Given the description of an element on the screen output the (x, y) to click on. 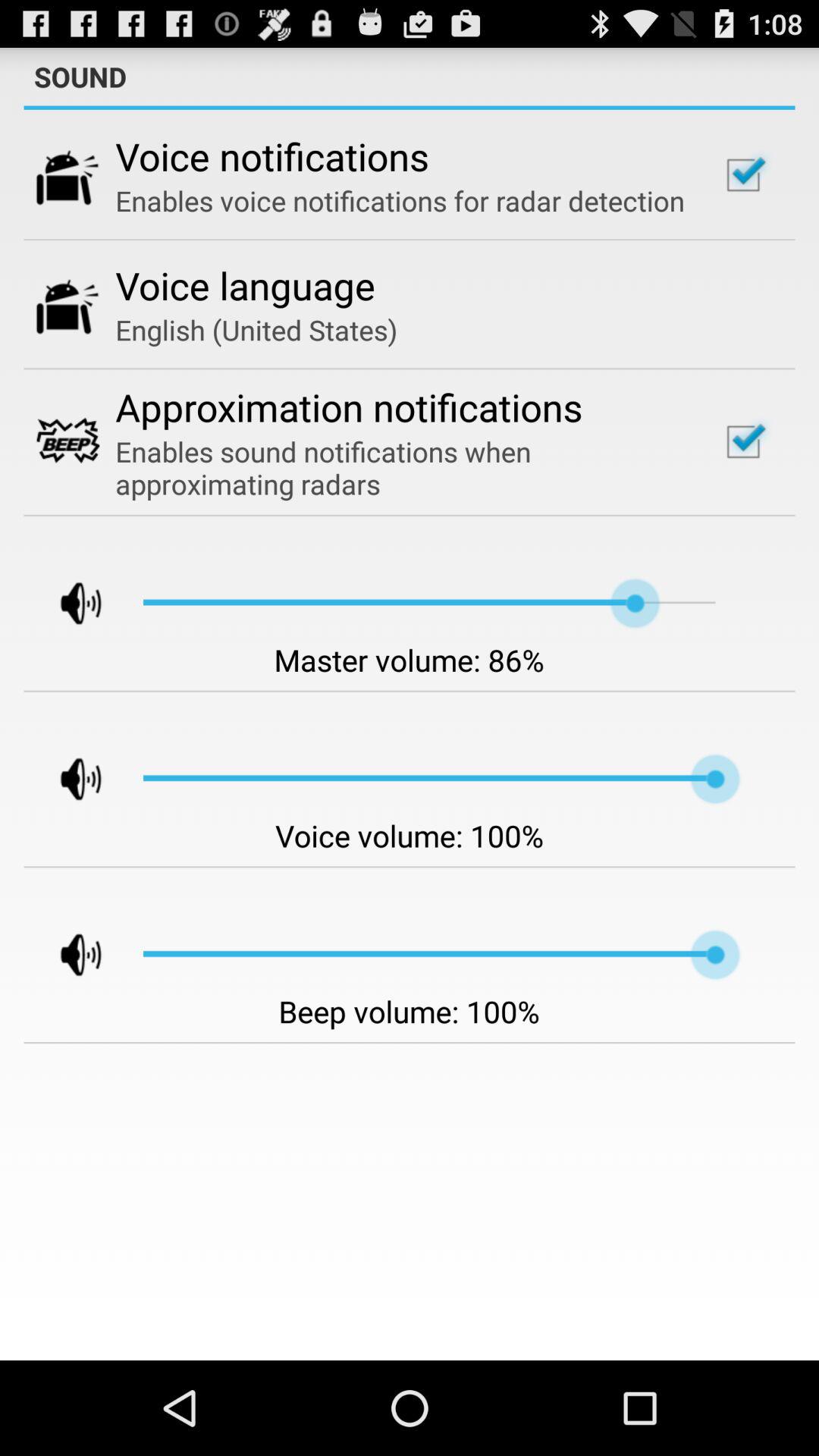
tap icon above the english (united states) item (245, 285)
